Given the description of an element on the screen output the (x, y) to click on. 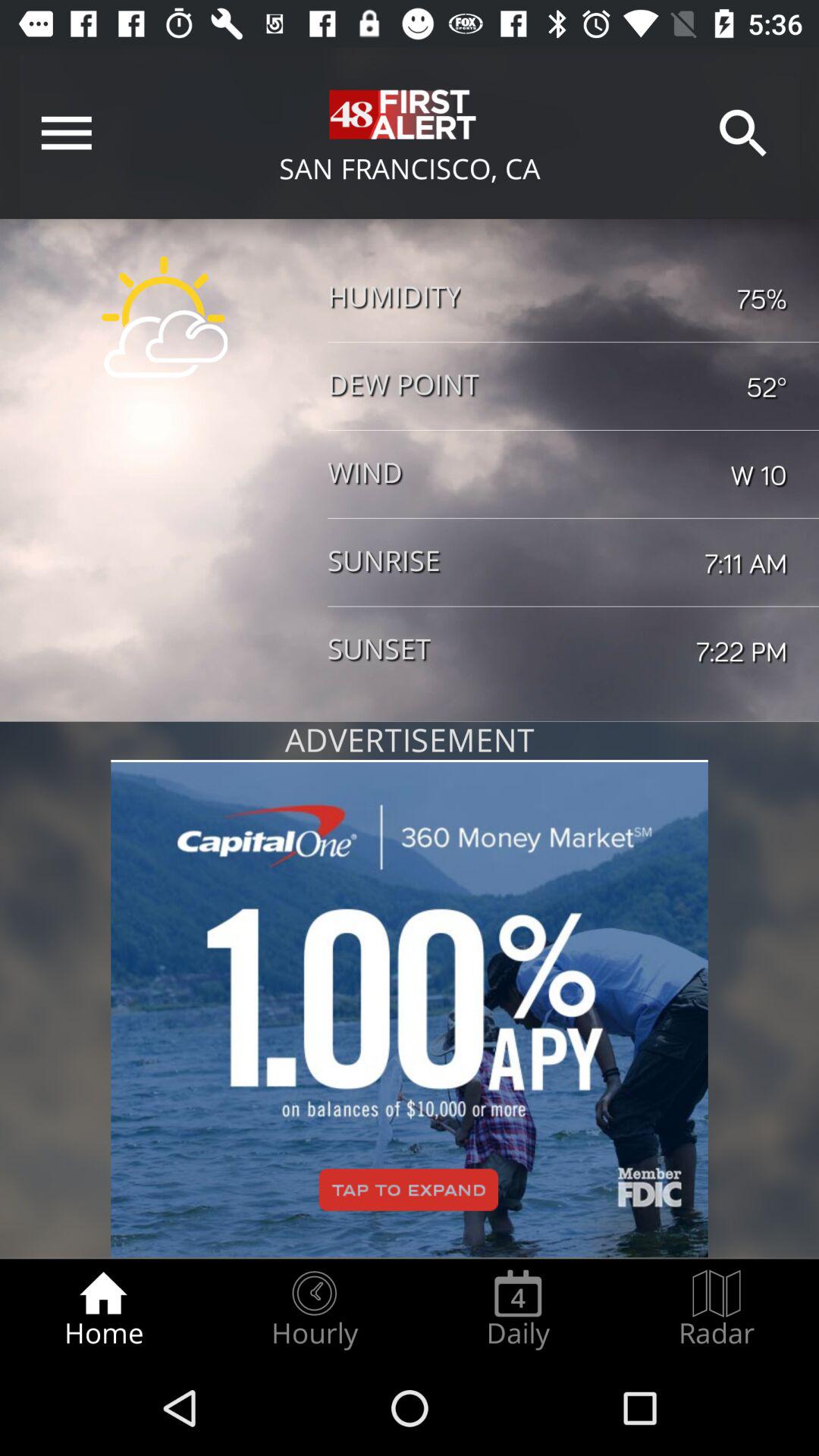
press the item at the bottom left corner (103, 1309)
